Given the description of an element on the screen output the (x, y) to click on. 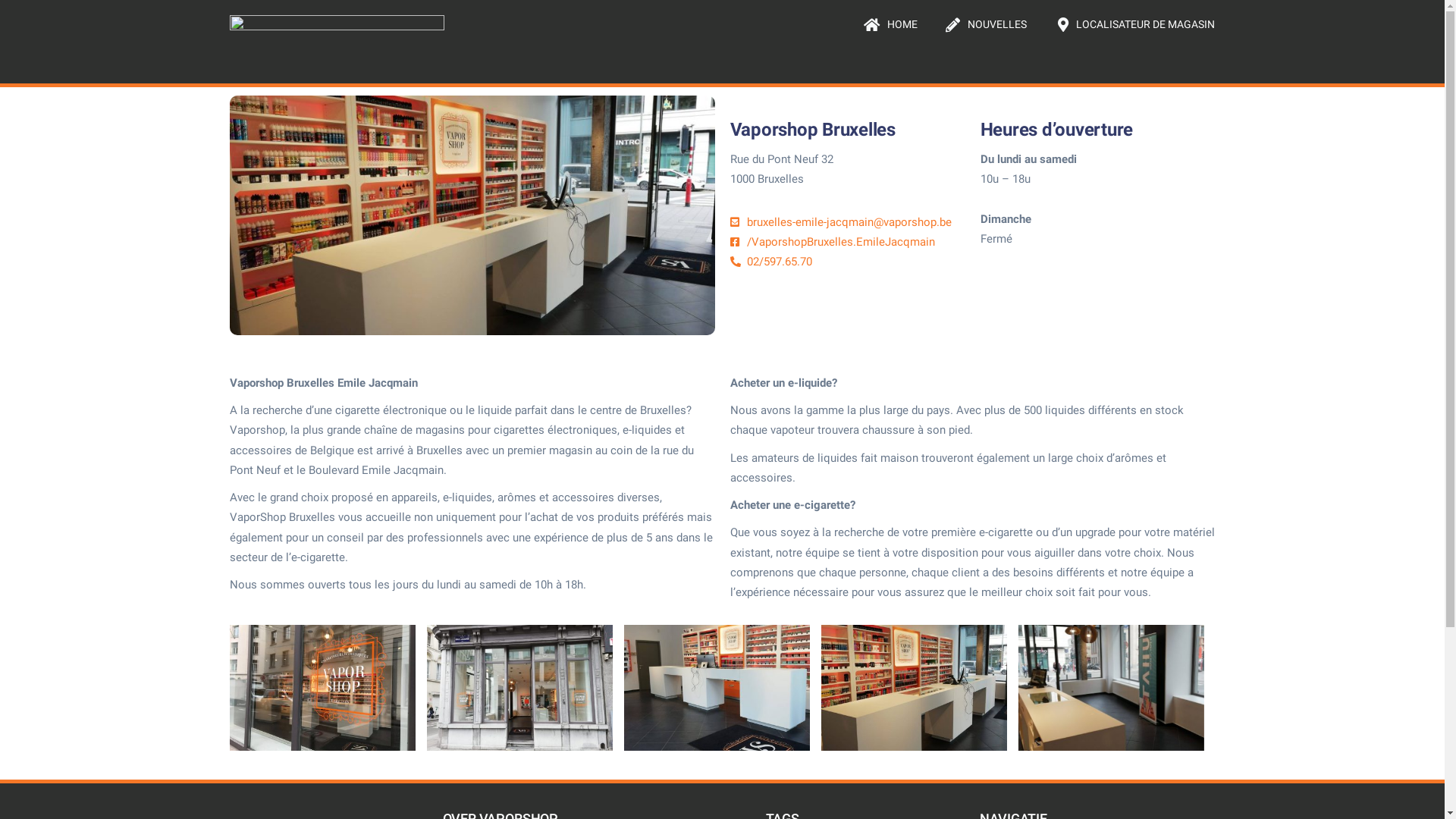
LOCALISATEUR DE MAGASIN Element type: text (1133, 24)
HOME Element type: text (889, 24)
02/597.65.70 Element type: text (846, 261)
bruxelles-emile-jacqmain@vaporshop.be Element type: text (846, 222)
/VaporshopBruxelles.EmileJacqmain Element type: text (846, 241)
NOUVELLES Element type: text (983, 24)
